Given the description of an element on the screen output the (x, y) to click on. 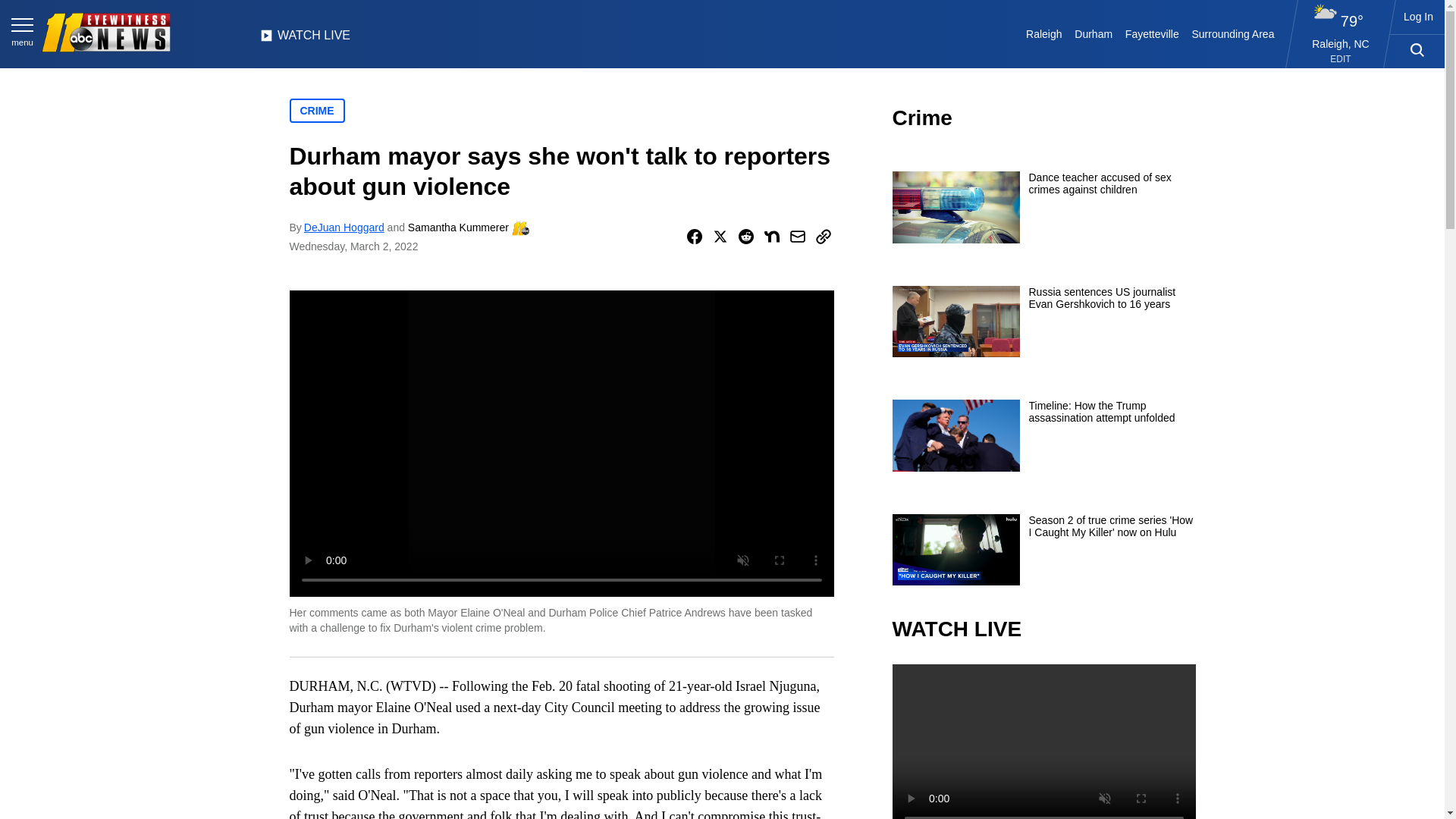
Raleigh (1044, 33)
Durham (1093, 33)
Raleigh, NC (1340, 43)
video.title (1043, 741)
WATCH LIVE (305, 39)
EDIT (1340, 59)
Surrounding Area (1233, 33)
Fayetteville (1151, 33)
